Given the description of an element on the screen output the (x, y) to click on. 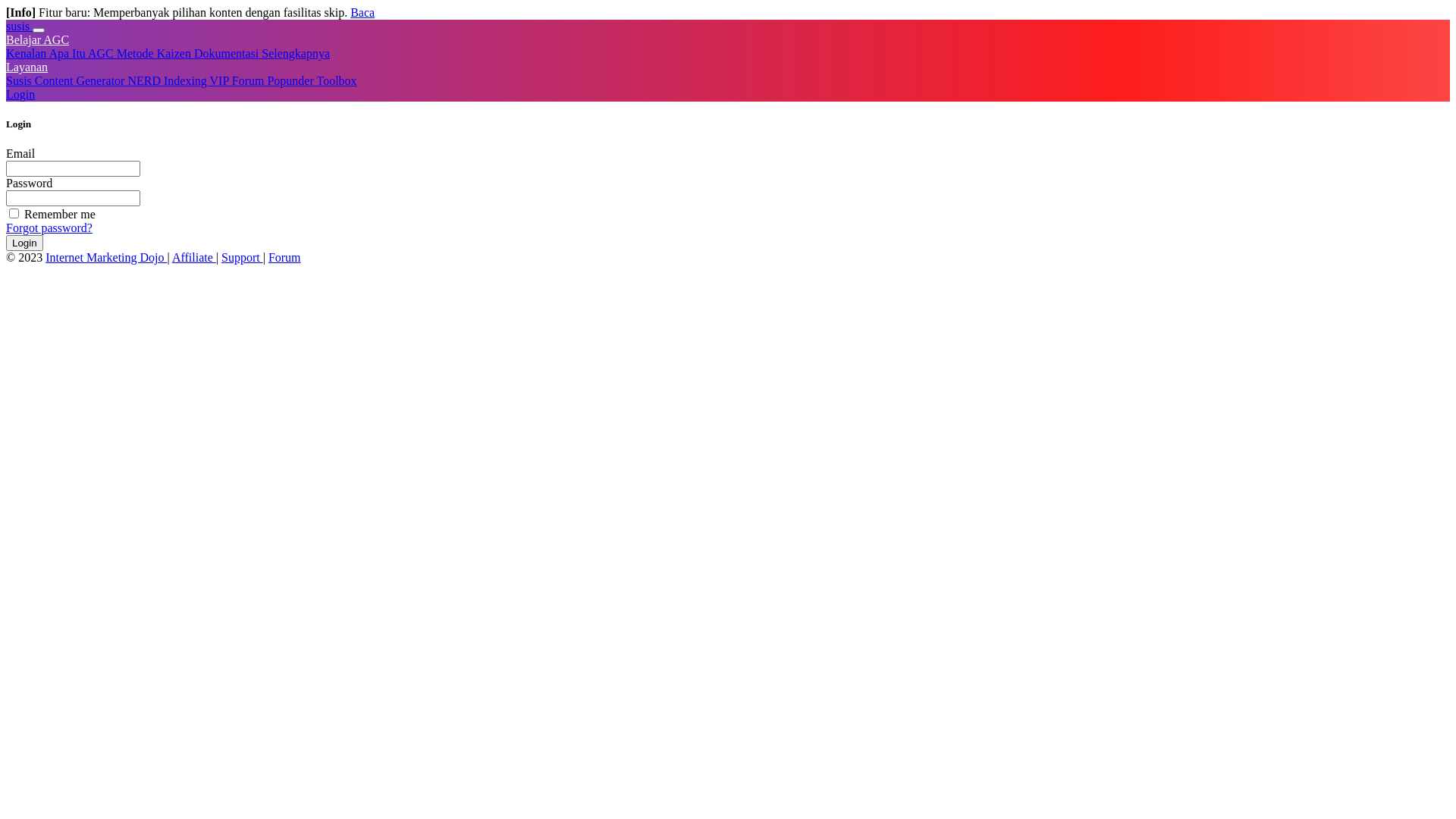
Baca Element type: text (362, 12)
susis Element type: text (19, 25)
Affiliate Element type: text (194, 257)
Selengkapnya Element type: text (295, 53)
NERD Indexing Element type: text (168, 80)
Belajar AGC Element type: text (37, 39)
Kenalan Element type: text (27, 53)
Metode Kaizen Element type: text (155, 53)
Susis Content Generator Element type: text (66, 80)
Popunder Element type: text (291, 80)
Internet Marketing Dojo Element type: text (105, 257)
Forum Element type: text (284, 257)
Toolbox Element type: text (336, 80)
VIP Forum Element type: text (238, 80)
Login Element type: text (20, 93)
Dokumentasi Element type: text (227, 53)
Layanan Element type: text (26, 66)
Forgot password? Element type: text (49, 227)
Login Element type: text (24, 243)
Support Element type: text (242, 257)
Apa Itu AGC Element type: text (82, 53)
